Given the description of an element on the screen output the (x, y) to click on. 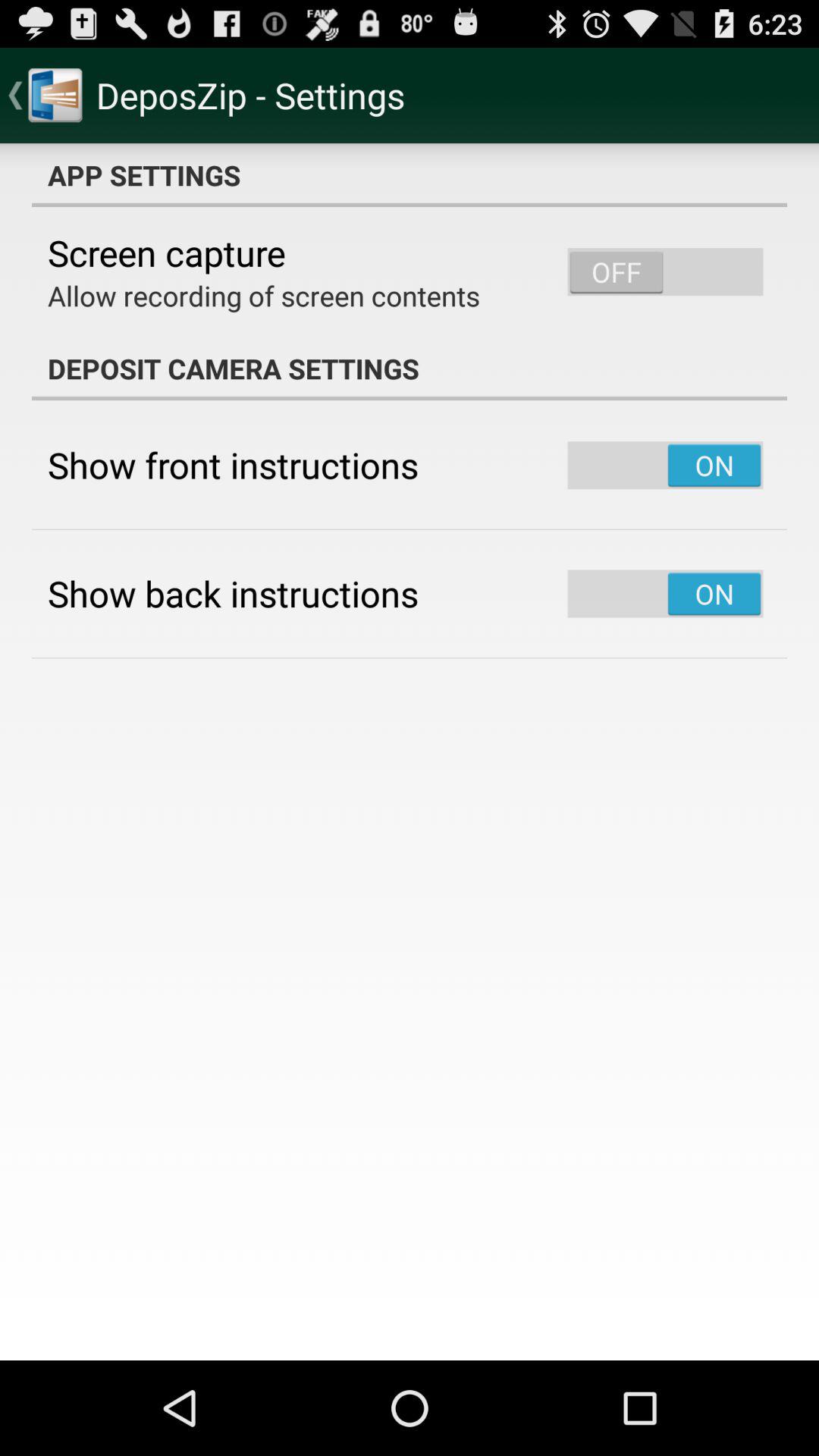
flip to the deposit camera settings app (409, 368)
